Given the description of an element on the screen output the (x, y) to click on. 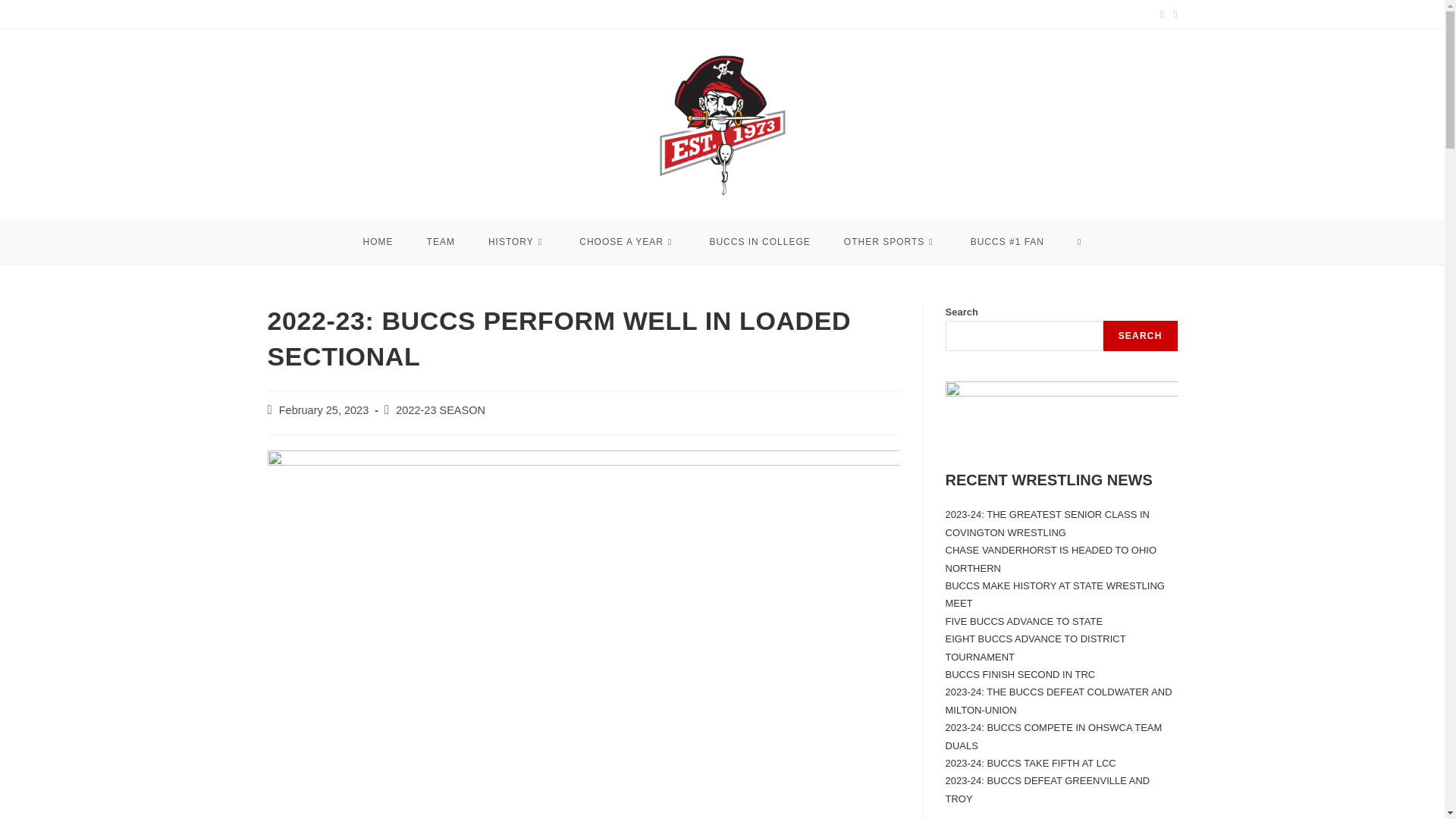
TEAM (440, 241)
HOME (378, 241)
CHOOSE A YEAR (627, 241)
HISTORY (516, 241)
